Given the description of an element on the screen output the (x, y) to click on. 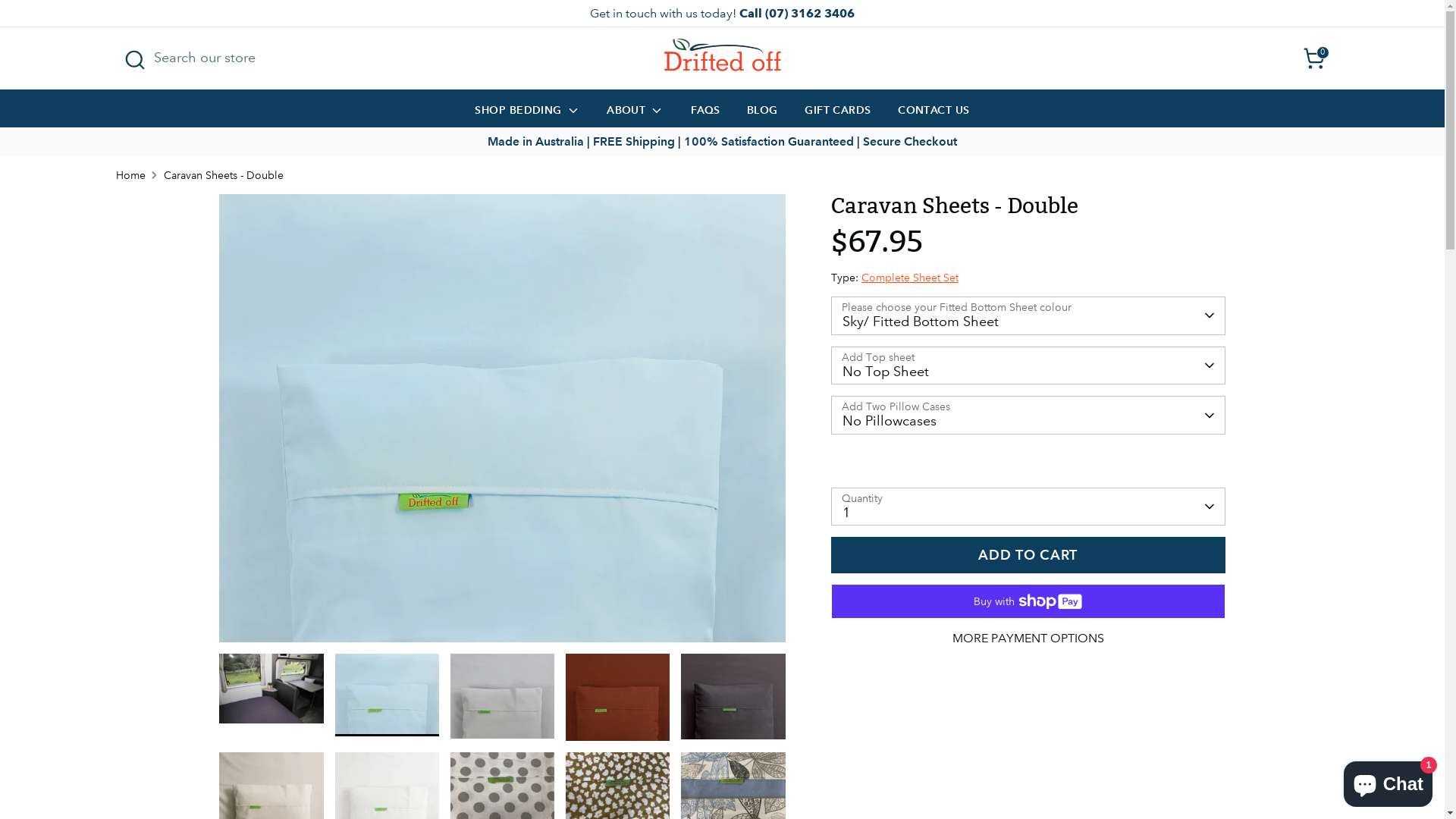
No Pillowcases Element type: text (1028, 414)
CONTACT US Element type: text (933, 113)
Complete Sheet Set Element type: text (909, 277)
GIFT CARDS Element type: text (837, 113)
Shopify online store chat Element type: hover (1388, 780)
MORE PAYMENT OPTIONS Element type: text (1028, 638)
Home Element type: text (129, 174)
No Top Sheet Element type: text (1028, 365)
Call (07) 3162 3406 Element type: text (795, 13)
ABOUT Element type: text (634, 113)
0 Element type: text (1313, 58)
1 Element type: text (1028, 506)
ADD TO CART Element type: text (1027, 554)
SHOP BEDDING Element type: text (526, 113)
BLOG Element type: text (762, 113)
Sky/ Fitted Bottom Sheet Element type: text (1028, 315)
FAQS Element type: text (705, 113)
Caravan Sheets - Double Element type: text (223, 174)
